Given the description of an element on the screen output the (x, y) to click on. 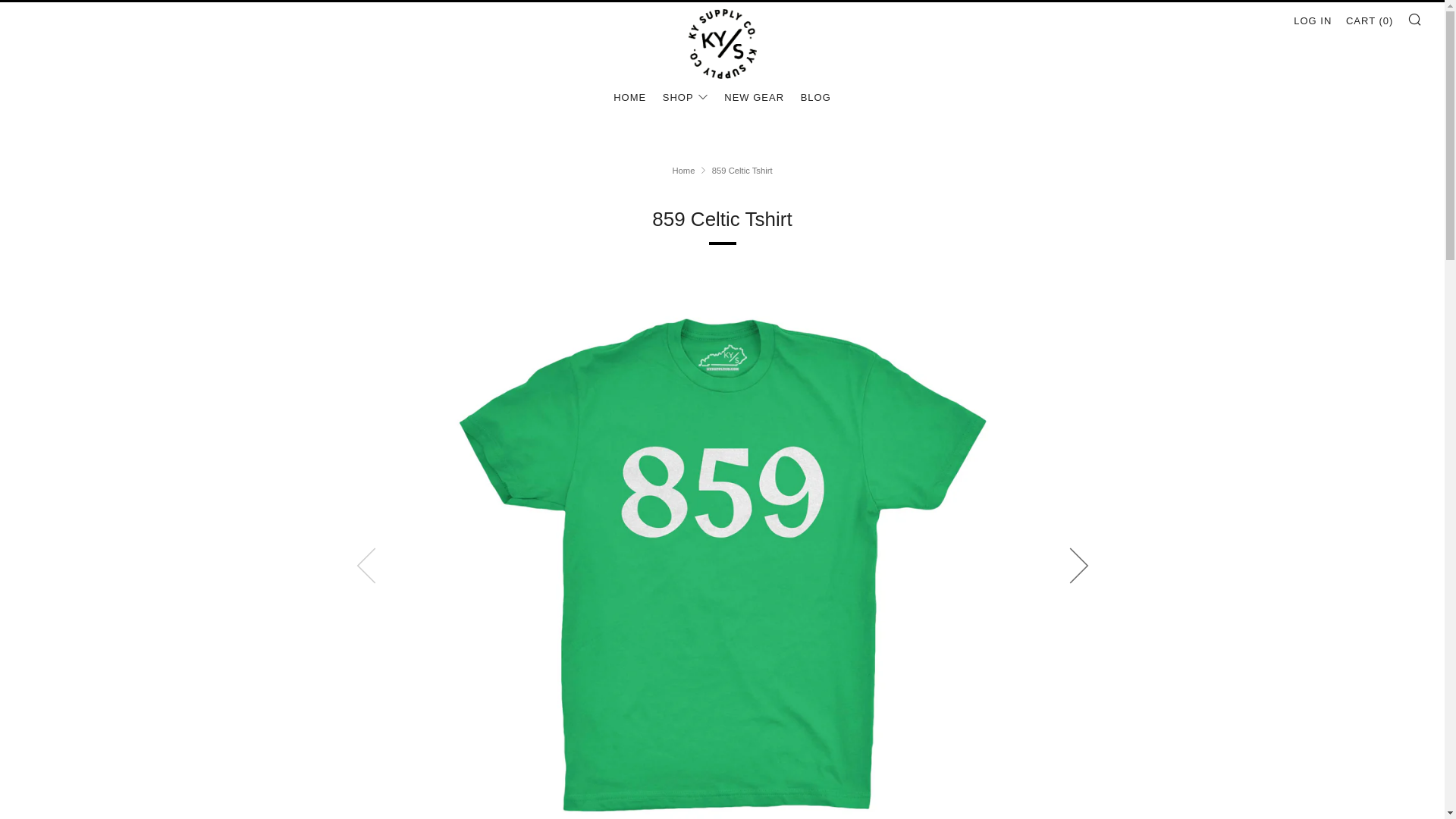
Home (682, 170)
HOME (629, 97)
SHOP (684, 97)
